Given the description of an element on the screen output the (x, y) to click on. 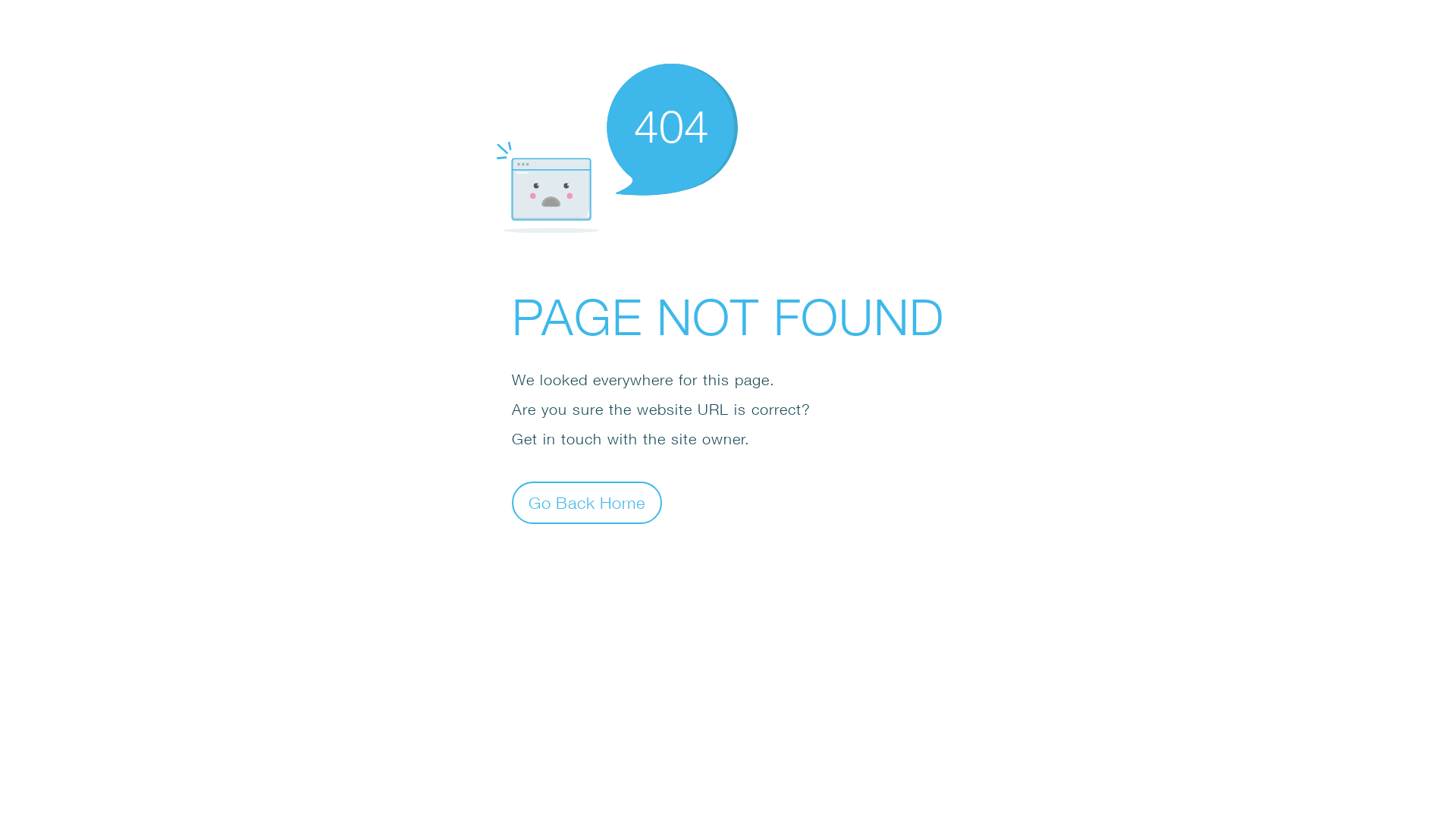
Go Back Home Element type: text (586, 502)
